Given the description of an element on the screen output the (x, y) to click on. 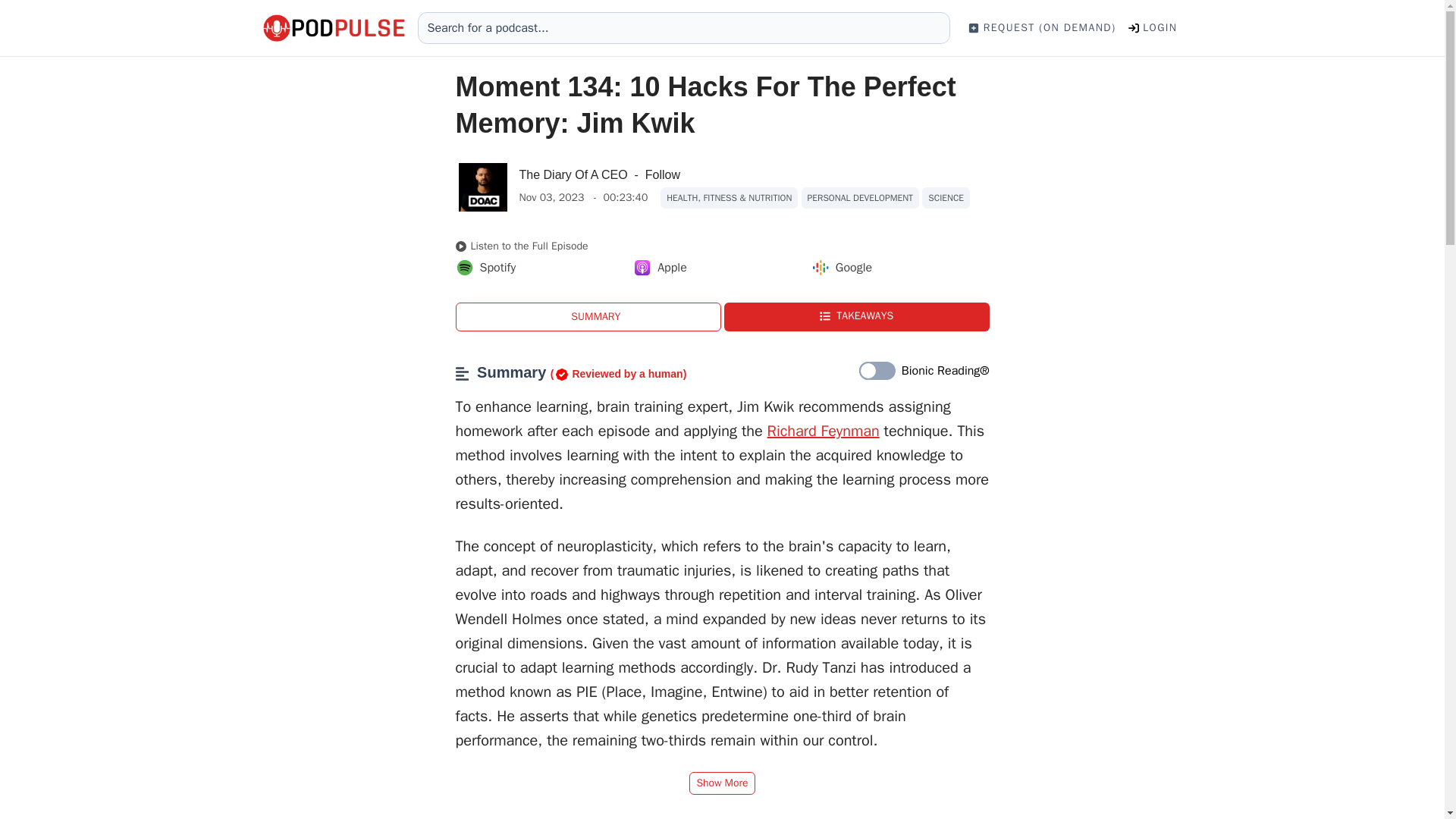
 SUMMARY (587, 316)
SCIENCE (945, 197)
LOGIN (1152, 27)
Richard Feynman (823, 430)
Apple (660, 267)
Follow (662, 175)
Google (841, 267)
The Diary Of A CEO (572, 174)
Show More (721, 783)
PERSONAL DEVELOPMENT (861, 197)
on (877, 371)
Spotify (484, 267)
 TAKEAWAYS (855, 316)
